Given the description of an element on the screen output the (x, y) to click on. 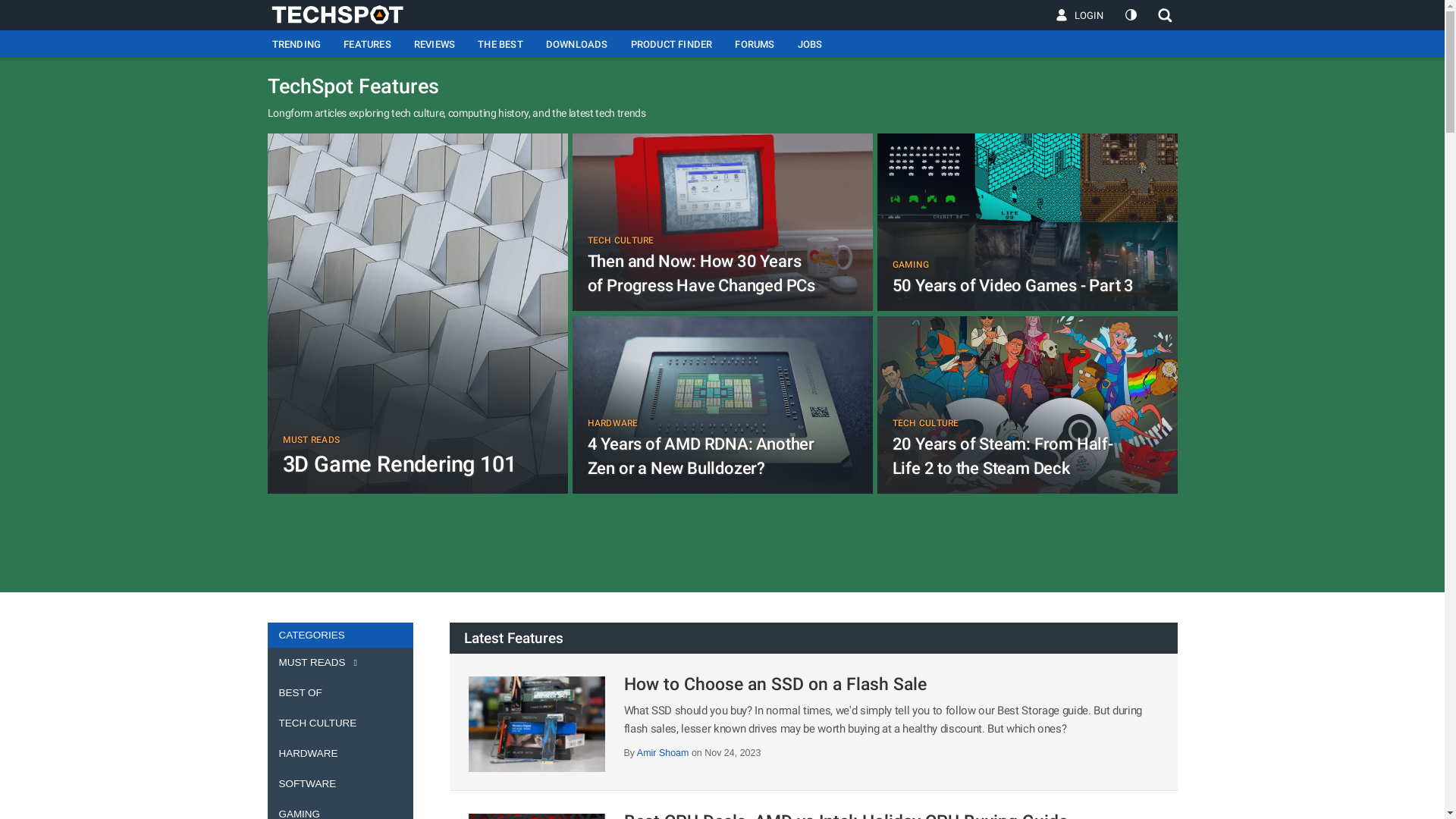
LOGIN Element type: text (1079, 15)
FEATURES Element type: text (367, 44)
SOFTWARE Element type: text (340, 783)
FORUMS Element type: text (754, 44)
THE BEST Element type: text (500, 44)
How to Choose an SSD on a Flash Sale Element type: text (774, 684)
REVIEWS Element type: text (434, 44)
TECH CULTURE Element type: text (340, 723)
GAMING
50 Years of Video Games - Part 3 Element type: text (1026, 228)
DOWNLOADS Element type: text (576, 44)
JOBS Element type: text (809, 44)
TRENDING Element type: text (295, 44)
MUST READS
3D Game Rendering 101 Element type: text (416, 319)
TechSpot logoThe word TechSpot Element type: text (344, 14)
Amir Shoam Element type: text (664, 752)
HARDWARE Element type: text (340, 753)
PRODUCT FINDER Element type: text (671, 44)
BEST OF Element type: text (340, 692)
SearchA search icon Element type: text (1159, 15)
CATEGORIES Element type: text (339, 634)
